Given the description of an element on the screen output the (x, y) to click on. 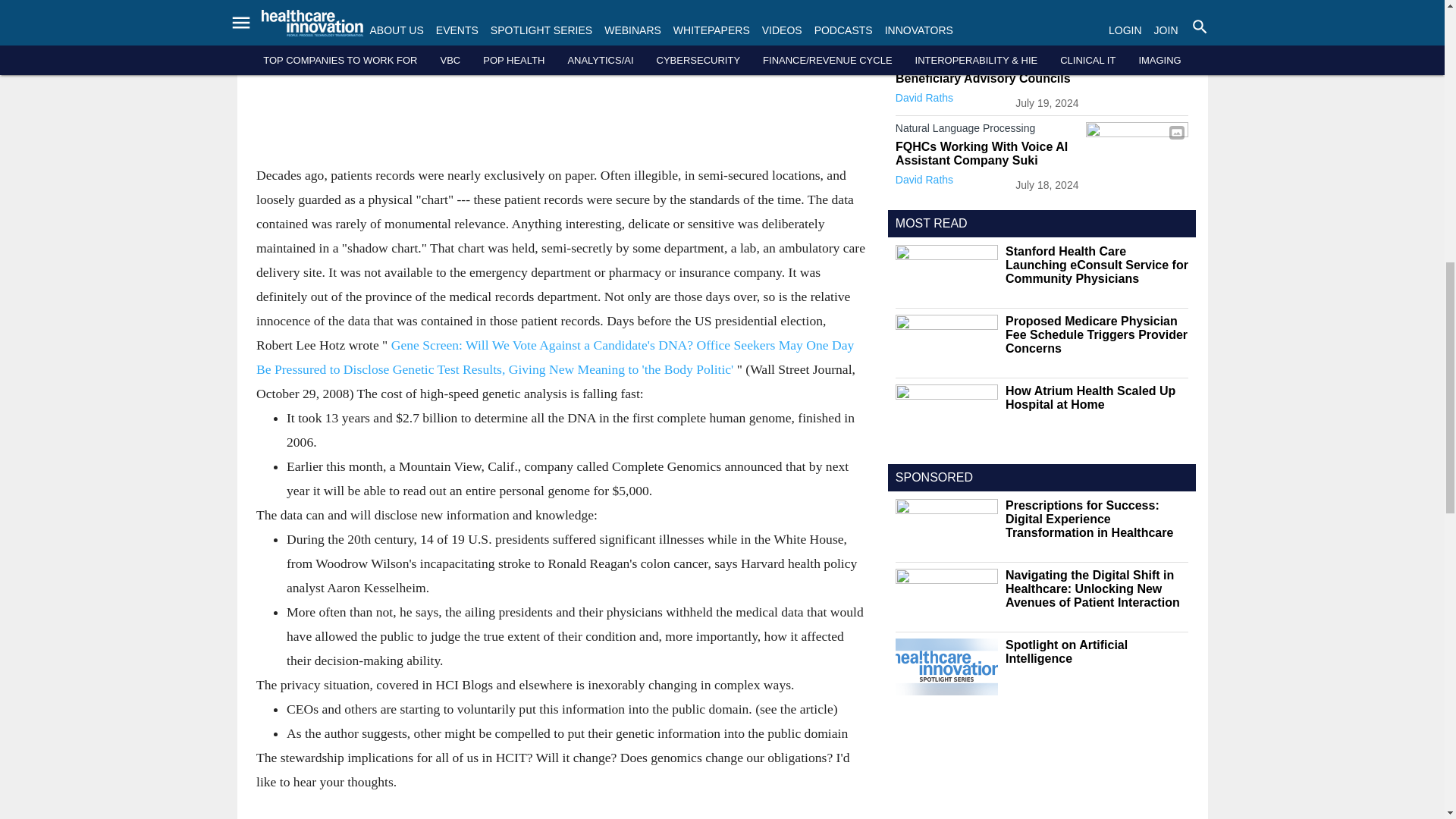
Picture 1 (560, 76)
Robert lee hotz's wsj article on presidential genomics (554, 356)
